Given the description of an element on the screen output the (x, y) to click on. 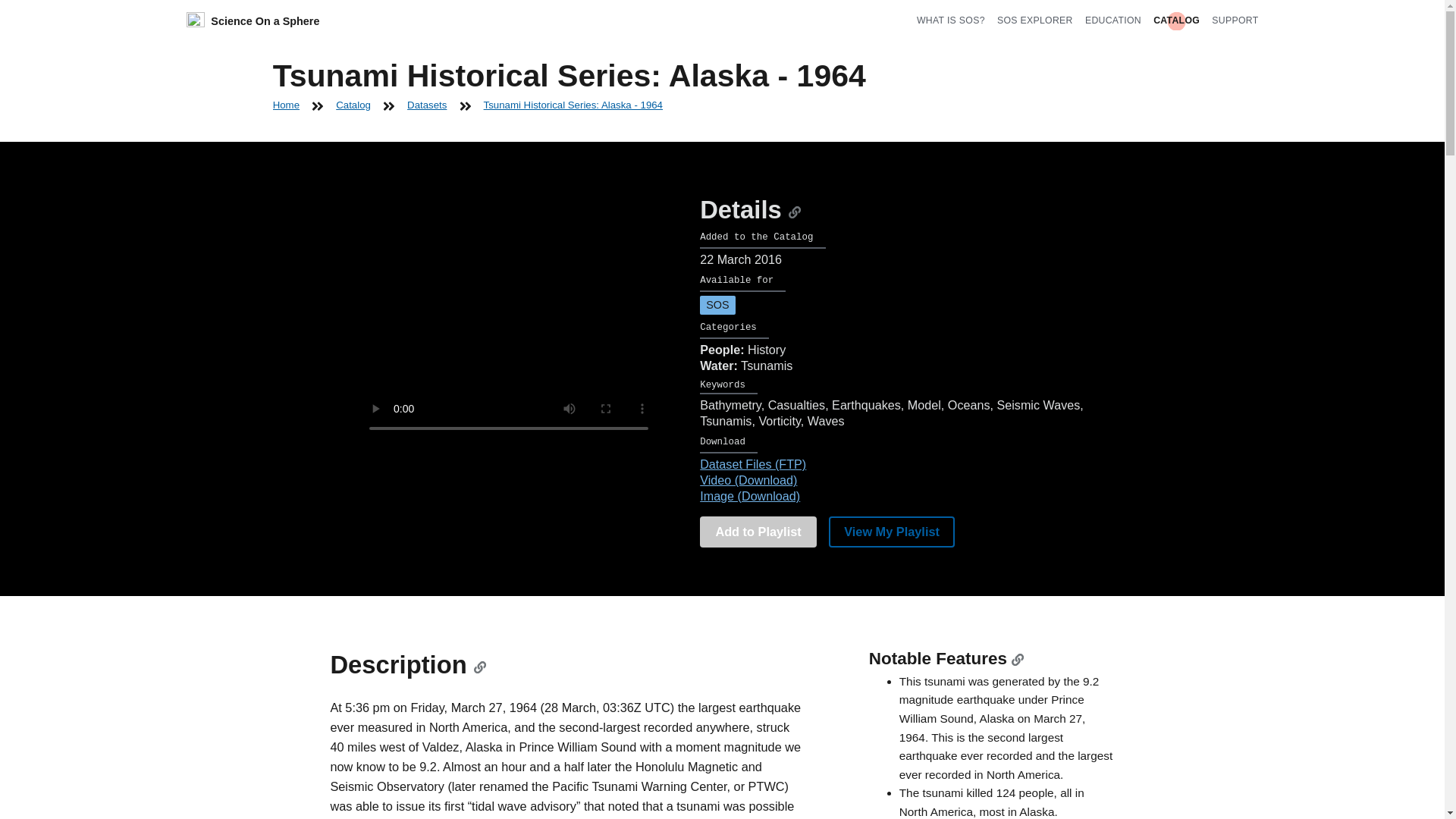
CATALOG (1176, 20)
WHAT IS SOS? (951, 20)
SOS EXPLORER (1035, 20)
Datasets (426, 105)
Science On a Sphere (253, 21)
Home (286, 105)
View My Playlist (891, 531)
SUPPORT (1234, 20)
EDUCATION (1112, 20)
Add to Playlist (758, 531)
